Given the description of an element on the screen output the (x, y) to click on. 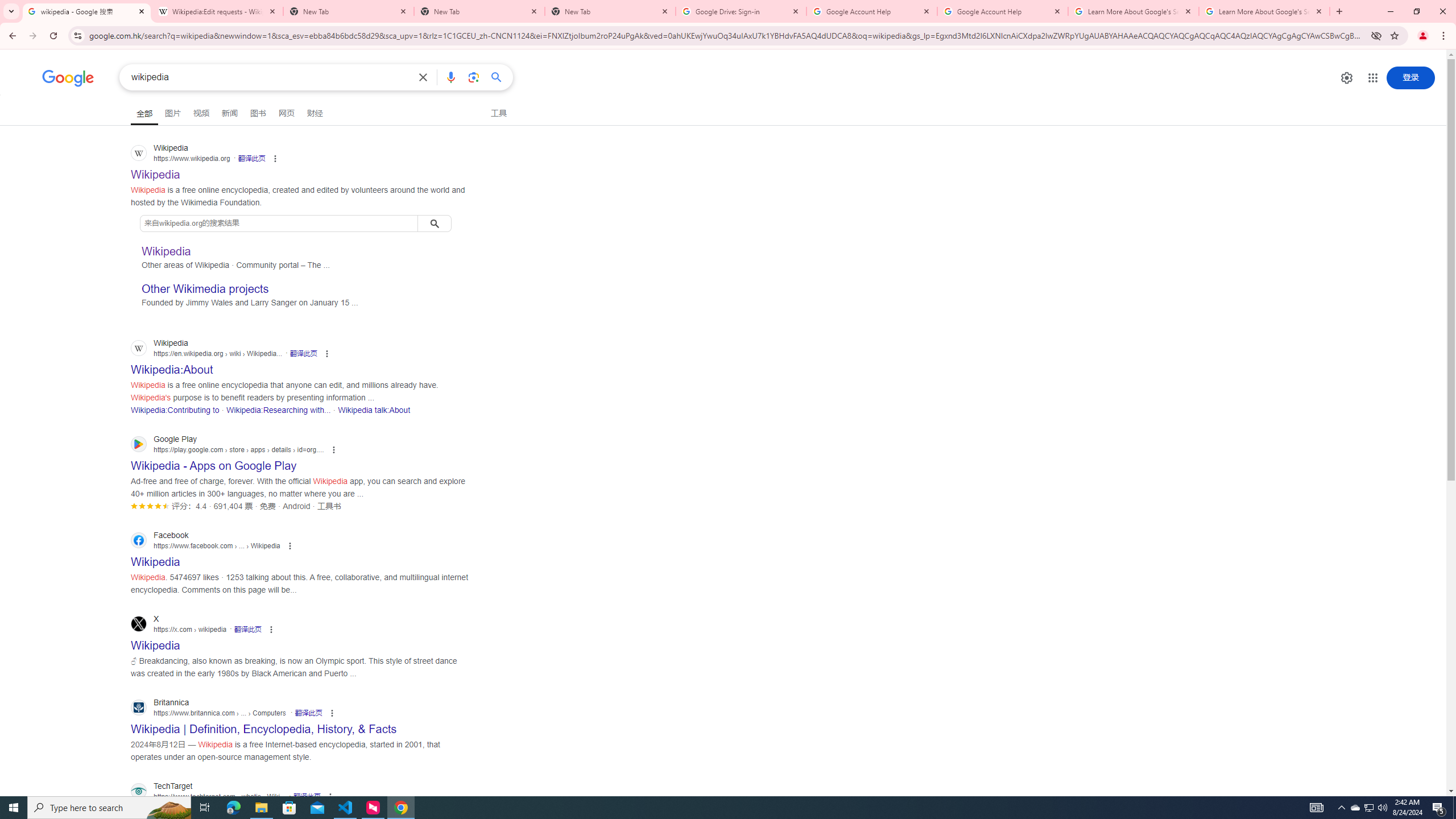
New Tab (479, 11)
You (1422, 35)
Google Account Help (871, 11)
Chrome (1445, 35)
Third-party cookies blocked (1376, 35)
Reload (52, 35)
